Given the description of an element on the screen output the (x, y) to click on. 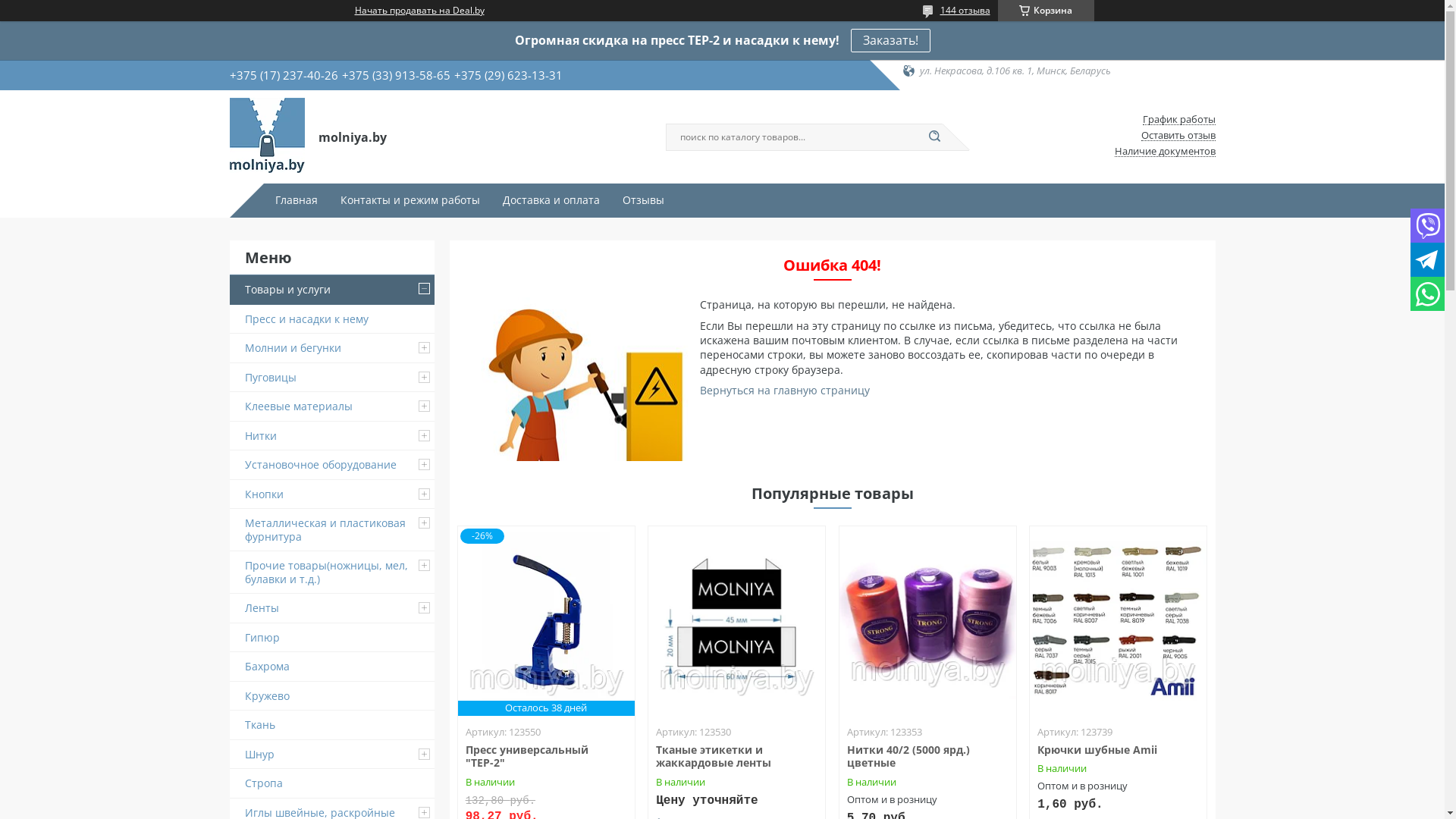
molniya.by Element type: hover (266, 135)
